Given the description of an element on the screen output the (x, y) to click on. 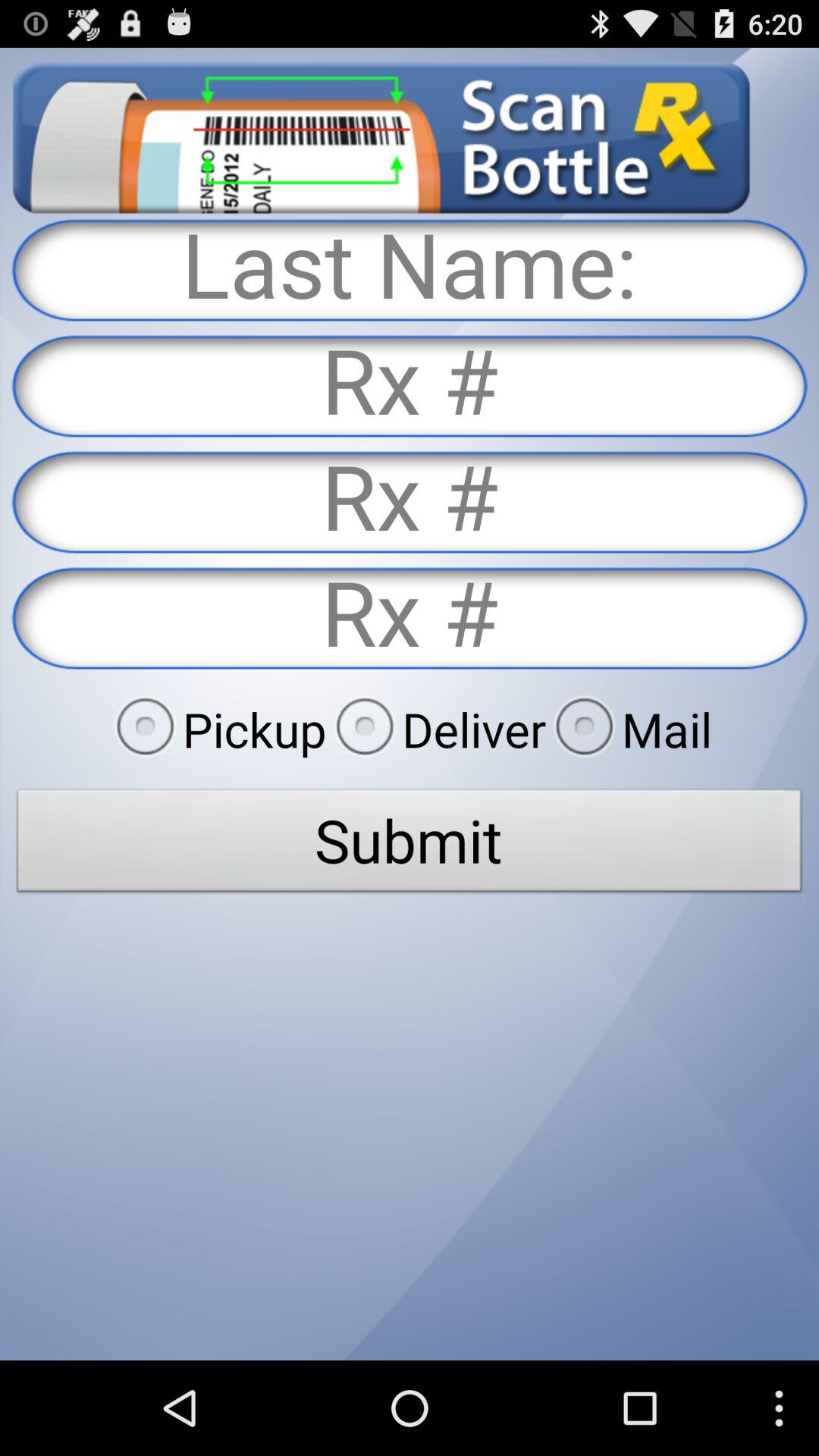
launch the pickup item (216, 728)
